Given the description of an element on the screen output the (x, y) to click on. 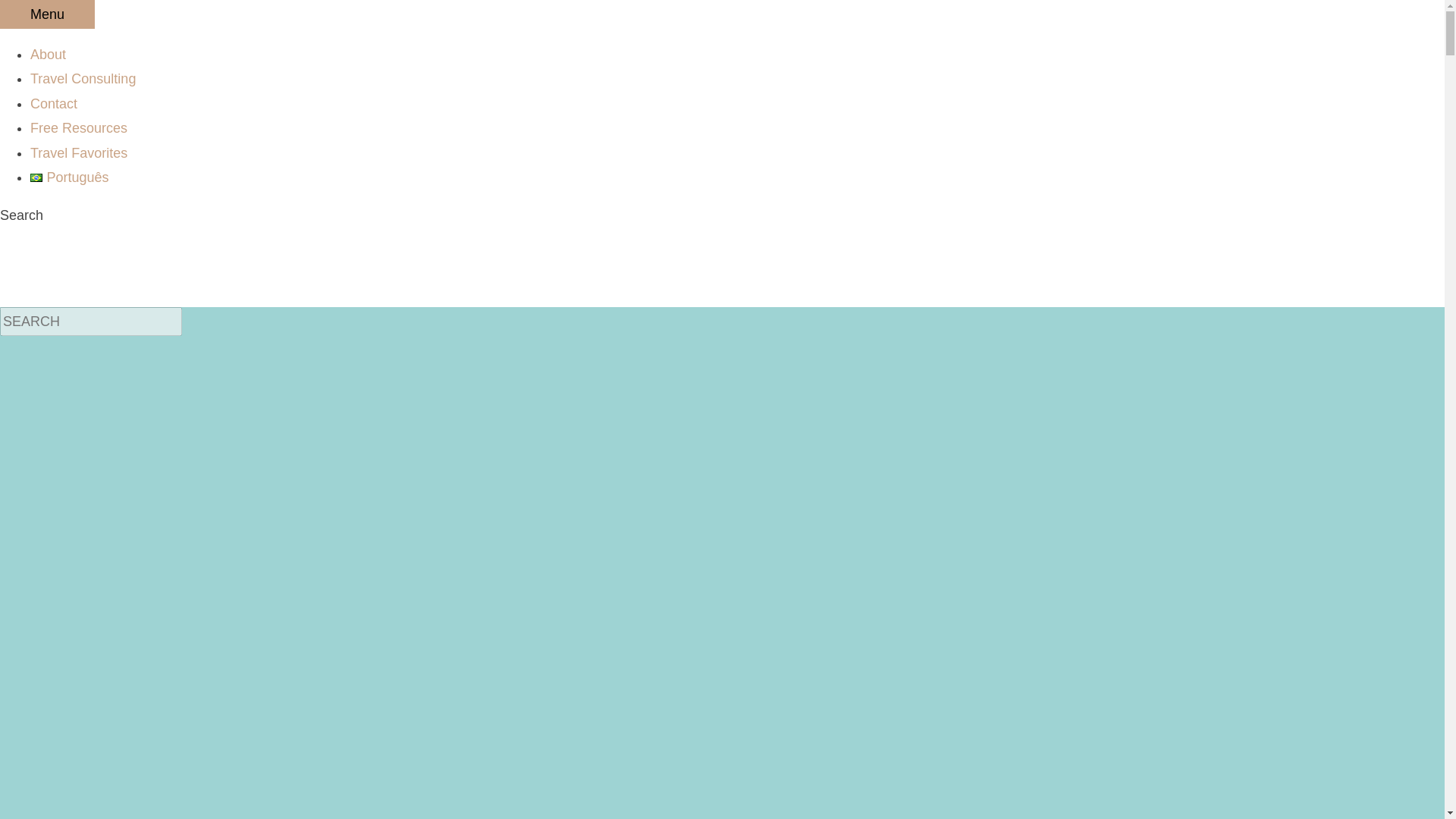
Travel Favorites (79, 152)
About (47, 54)
Travel Consulting (82, 78)
Contact (53, 103)
Search (91, 321)
Menu (47, 14)
Free Resources (79, 127)
